Given the description of an element on the screen output the (x, y) to click on. 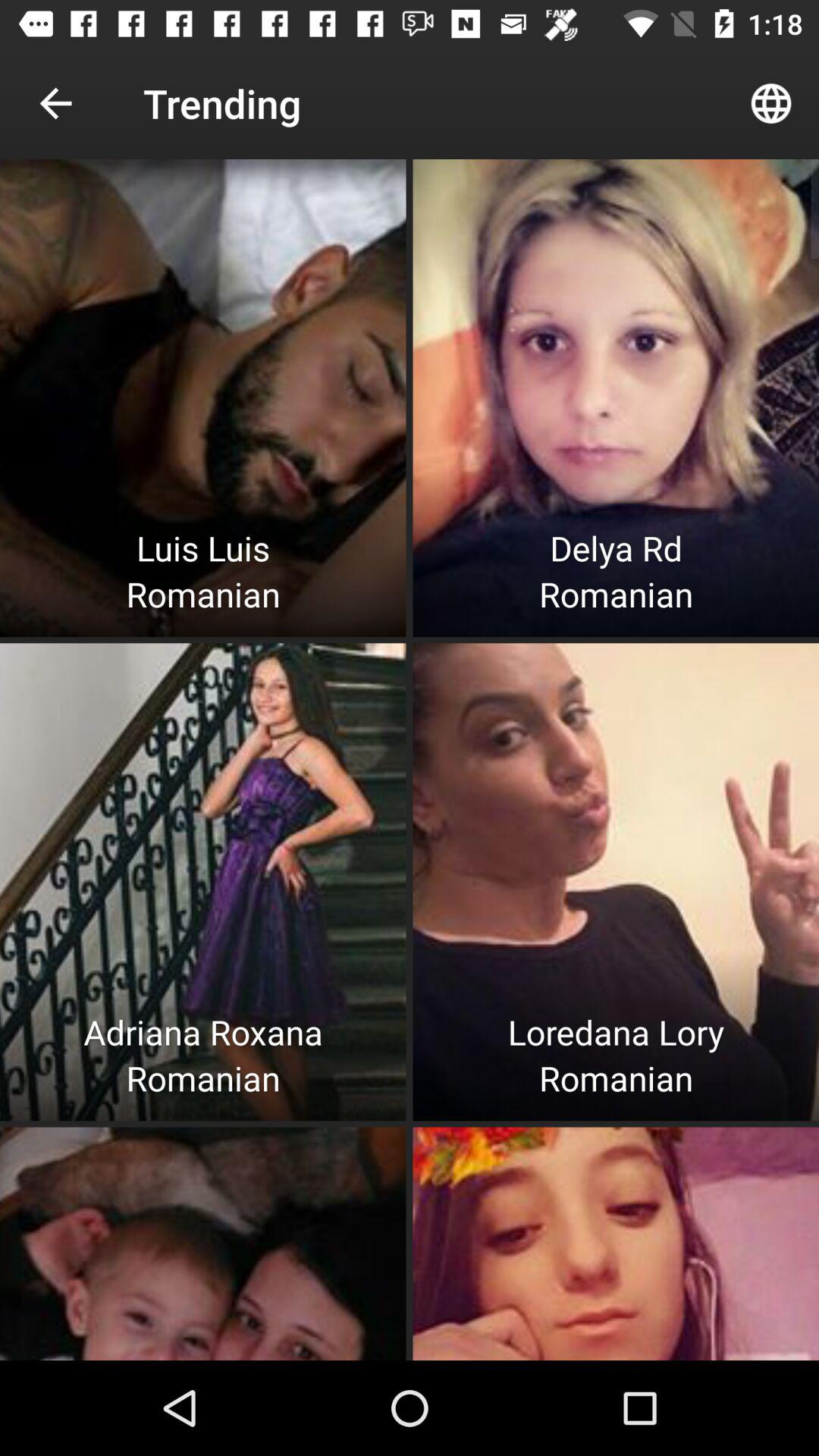
select icon next to trending item (55, 103)
